Given the description of an element on the screen output the (x, y) to click on. 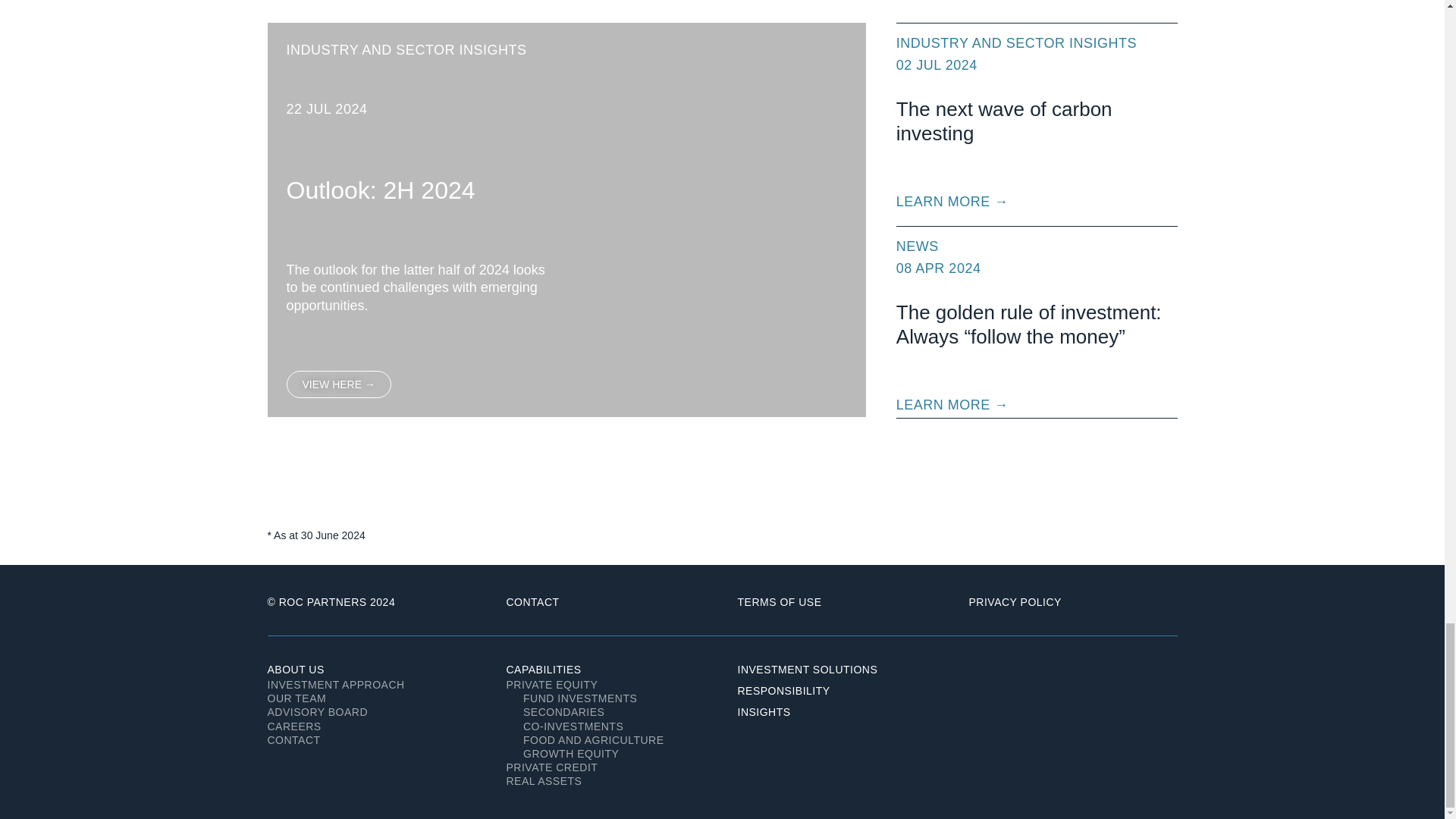
OUR TEAM (371, 698)
ADVISORY BOARD (371, 712)
GROWTH EQUITY (606, 753)
INVESTMENT APPROACH (371, 684)
CAPABILITIES (543, 669)
TERMS OF USE (778, 602)
FUND INVESTMENTS (606, 698)
PRIVATE CREDIT (606, 766)
ABOUT US (294, 669)
PRIVATE EQUITY (606, 684)
